Given the description of an element on the screen output the (x, y) to click on. 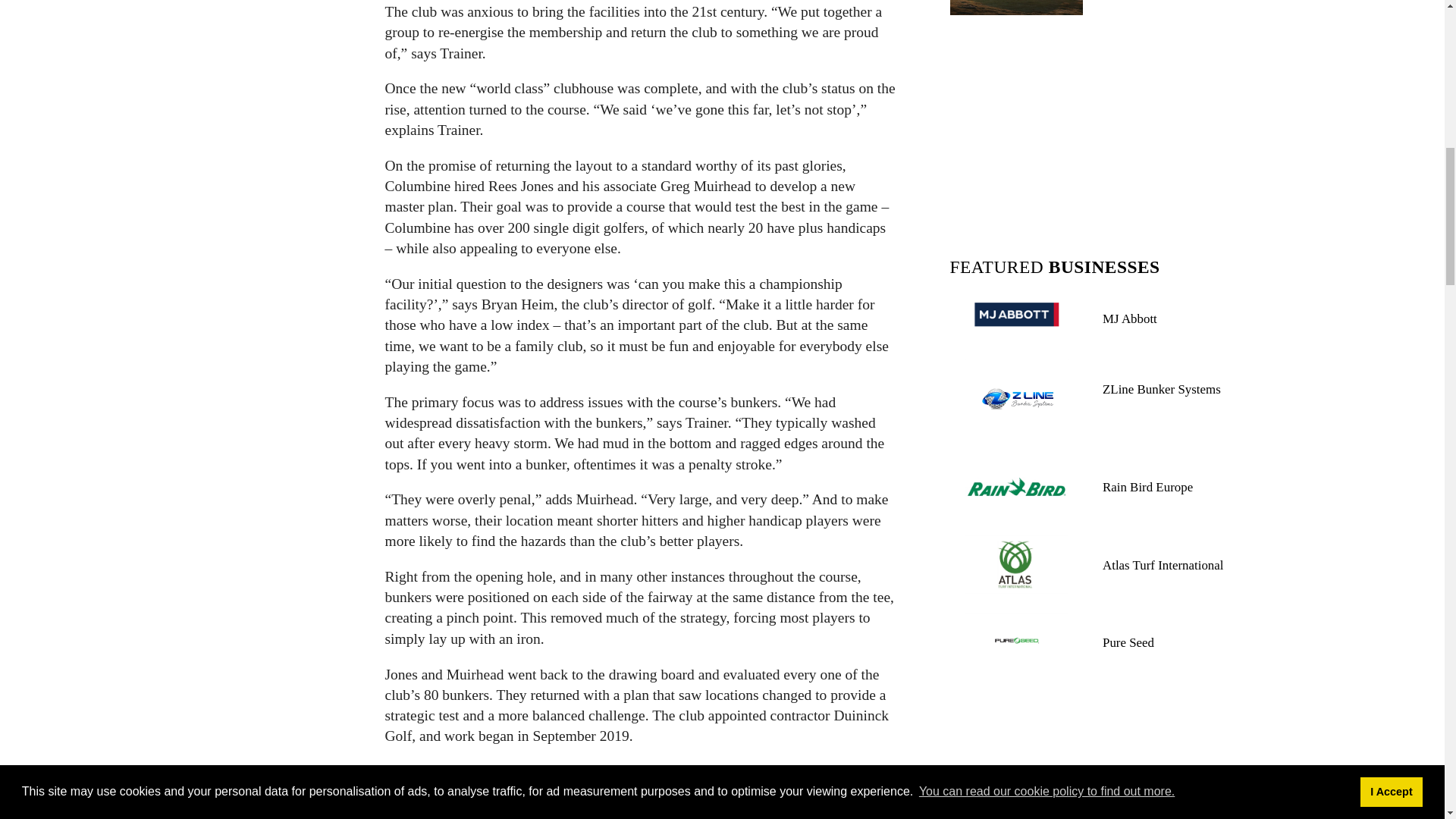
3rd party ad content (1097, 128)
